Given the description of an element on the screen output the (x, y) to click on. 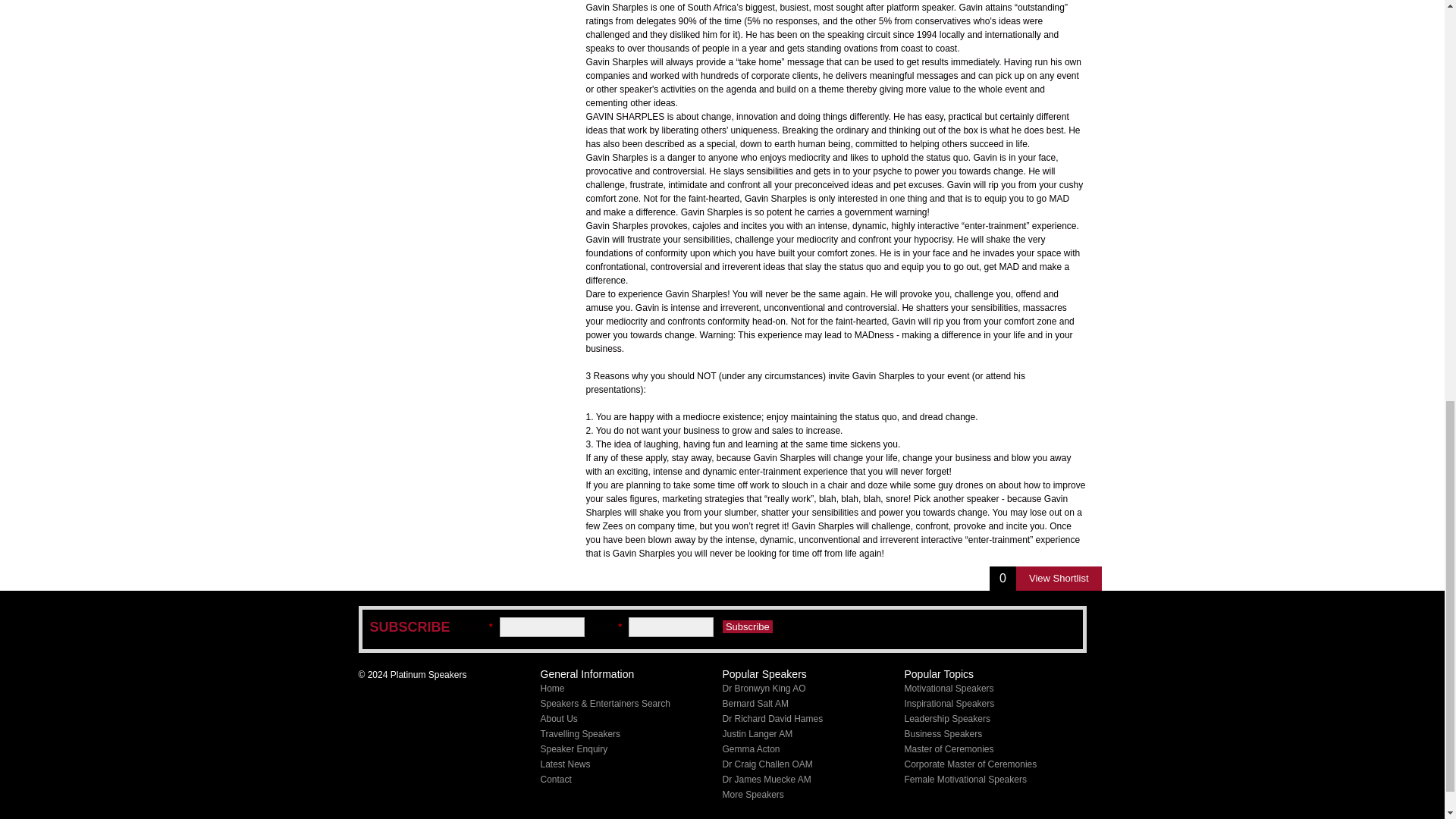
Home (552, 688)
Dr Craig Challen OAM (767, 764)
Gemma Acton (750, 748)
Dr James Muecke AM (766, 778)
Subscribe (747, 626)
Dr Bronwyn King AO (763, 688)
Travelling Speakers (580, 733)
Speaker Enquiry (573, 748)
Dr Richard David Hames (772, 718)
Latest News (564, 764)
